Given the description of an element on the screen output the (x, y) to click on. 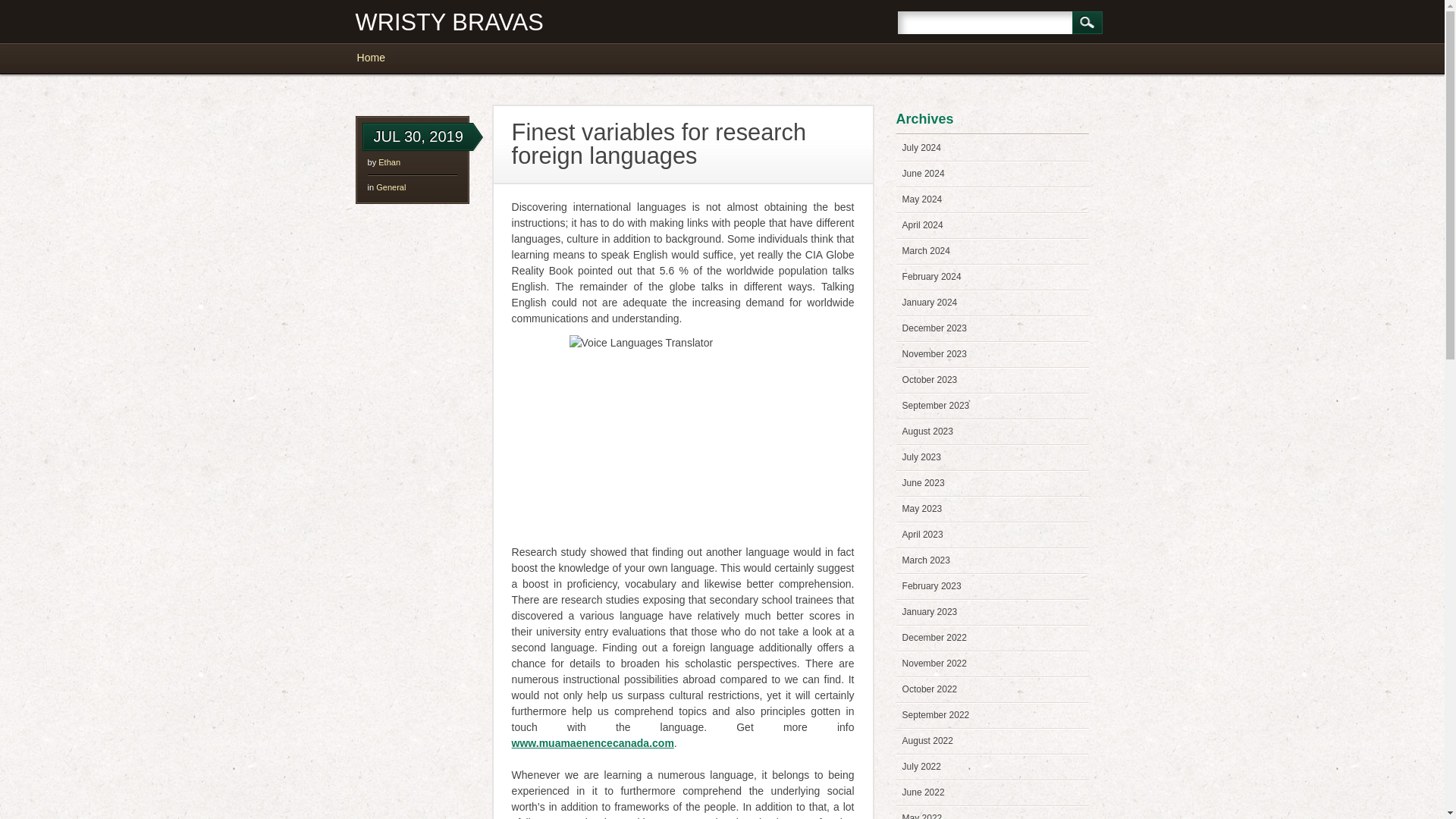
October 2022 (930, 688)
June 2024 (923, 173)
Ethan (389, 162)
April 2024 (922, 225)
May 2024 (922, 199)
December 2022 (934, 637)
Home (377, 57)
Search (1086, 22)
June 2022 (923, 792)
January 2024 (930, 302)
January 2023 (930, 611)
General (390, 186)
November 2022 (934, 663)
September 2022 (935, 715)
March 2024 (926, 250)
